Given the description of an element on the screen output the (x, y) to click on. 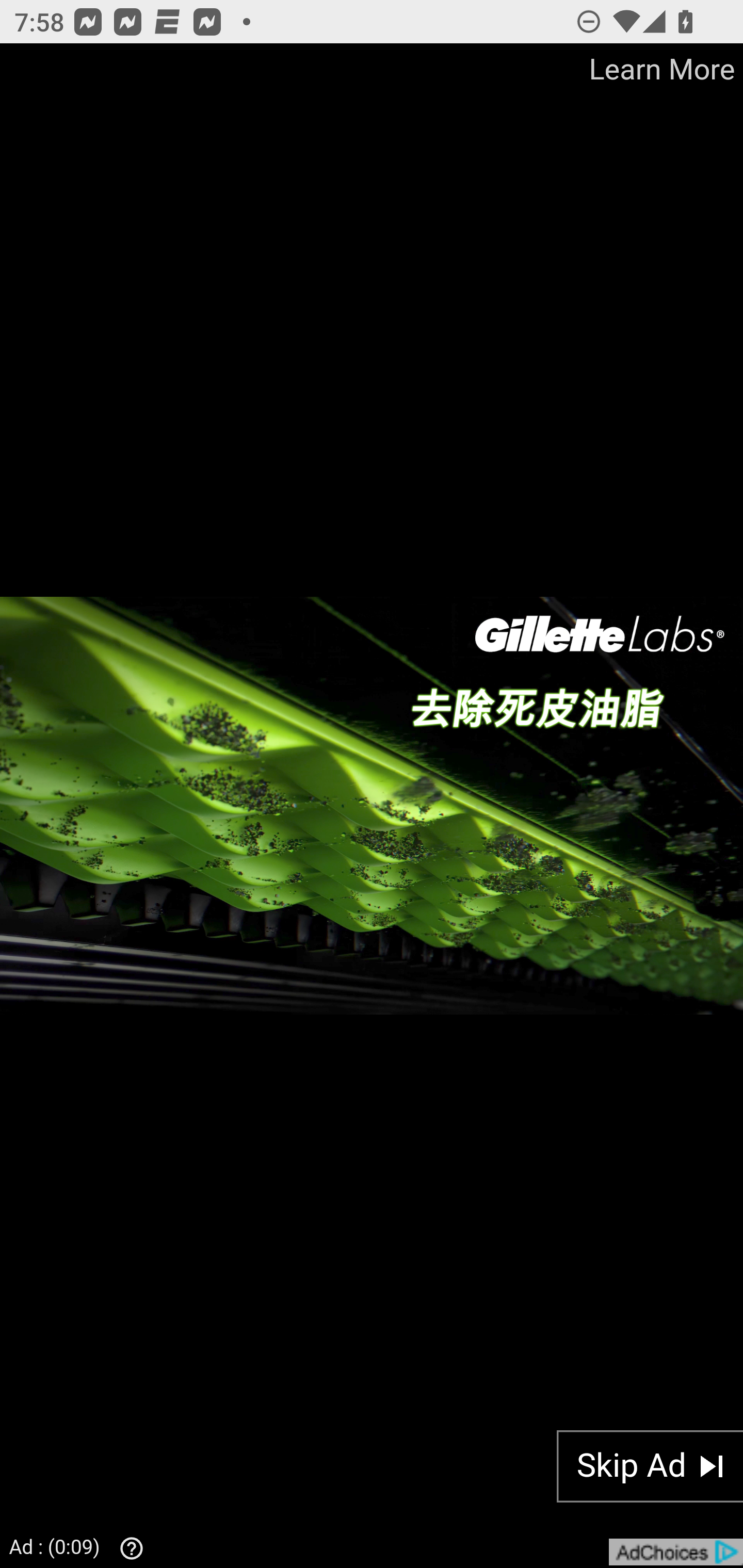
Learn More (660, 69)
Ad : (0:10) Why This Ad? (82, 1546)
Why This Ad? (126, 1548)
get?name=admarker-full-tl (675, 1552)
